Given the description of an element on the screen output the (x, y) to click on. 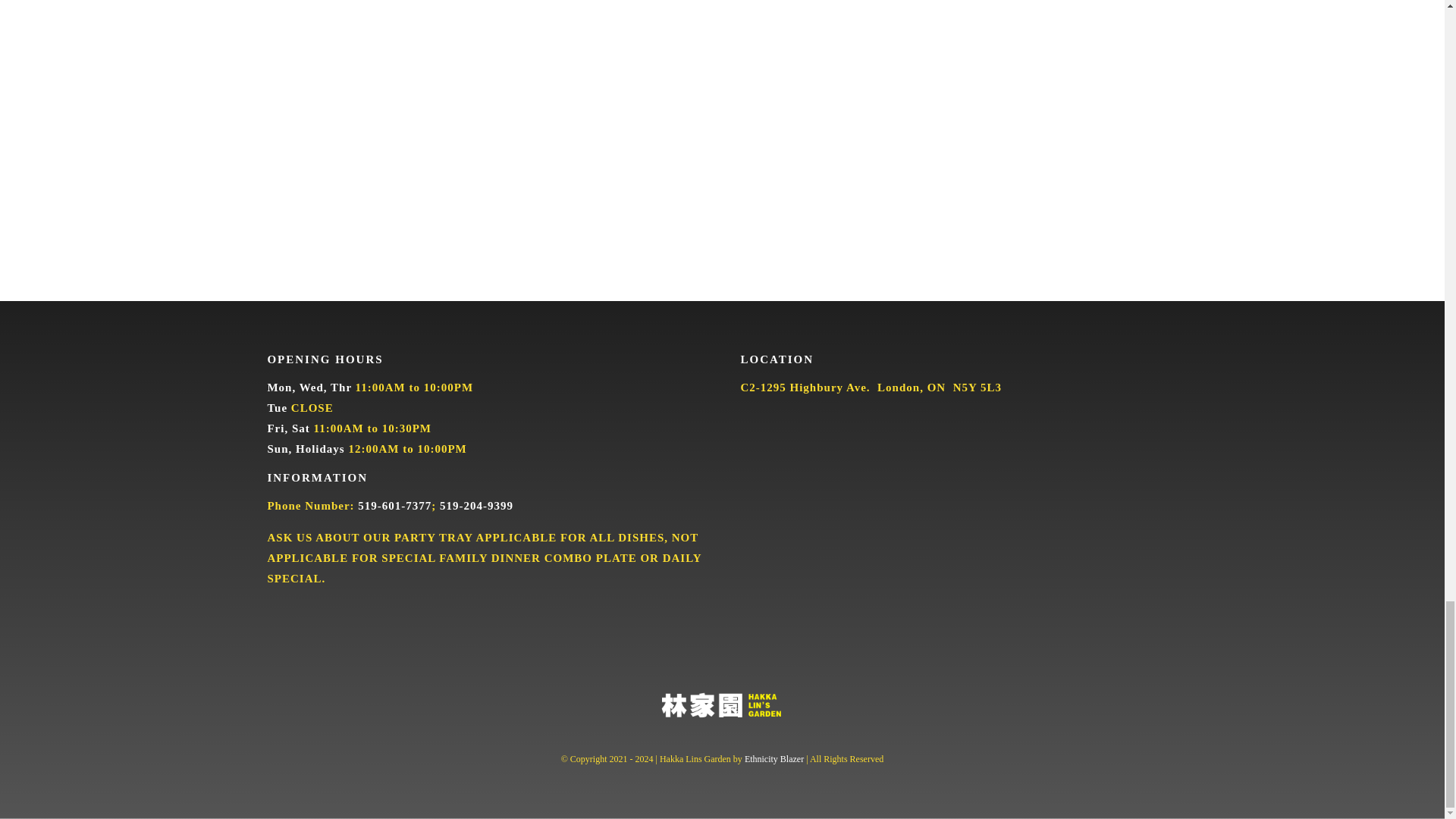
519-601-7377 (394, 505)
519-204-9399 (476, 505)
LOGO (721, 705)
Ethnicity Blazer (773, 758)
